Given the description of an element on the screen output the (x, y) to click on. 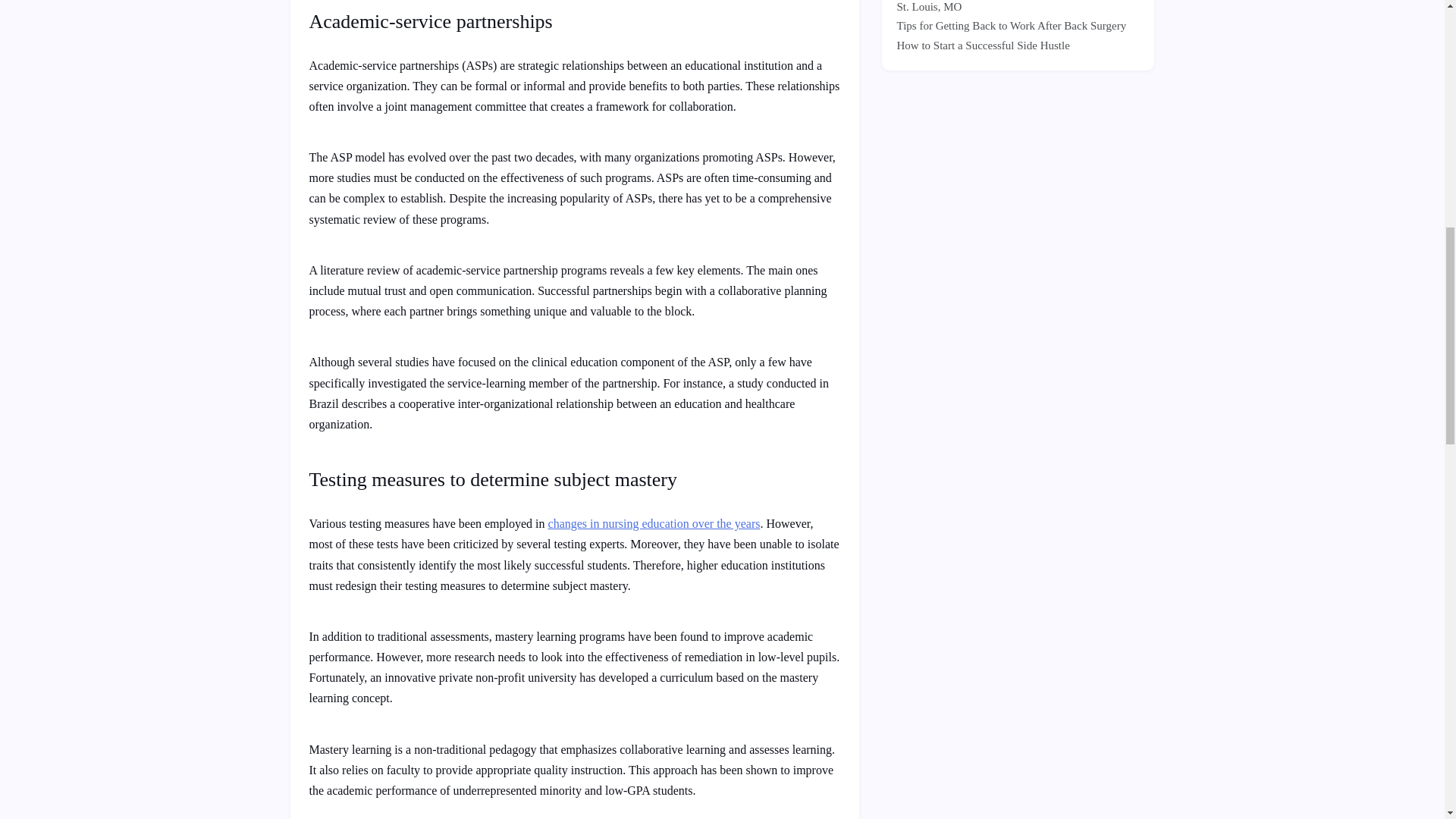
How to Start a Successful Side Hustle (982, 45)
Tips for Getting Back to Work After Back Surgery (1010, 25)
changes in nursing education over the years (654, 522)
